Given the description of an element on the screen output the (x, y) to click on. 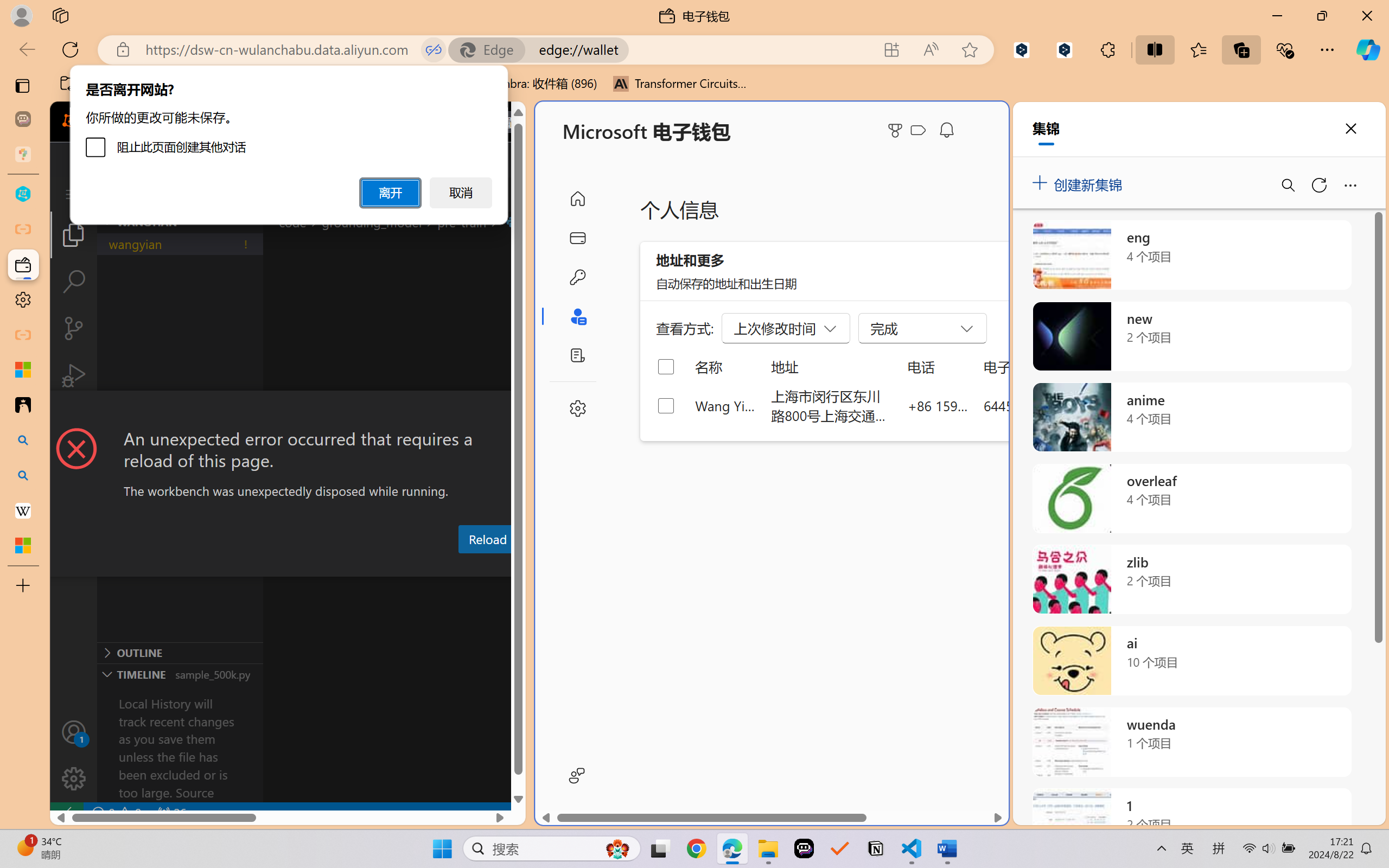
644553698@qq.com (1043, 405)
Manage (73, 778)
